Given the description of an element on the screen output the (x, y) to click on. 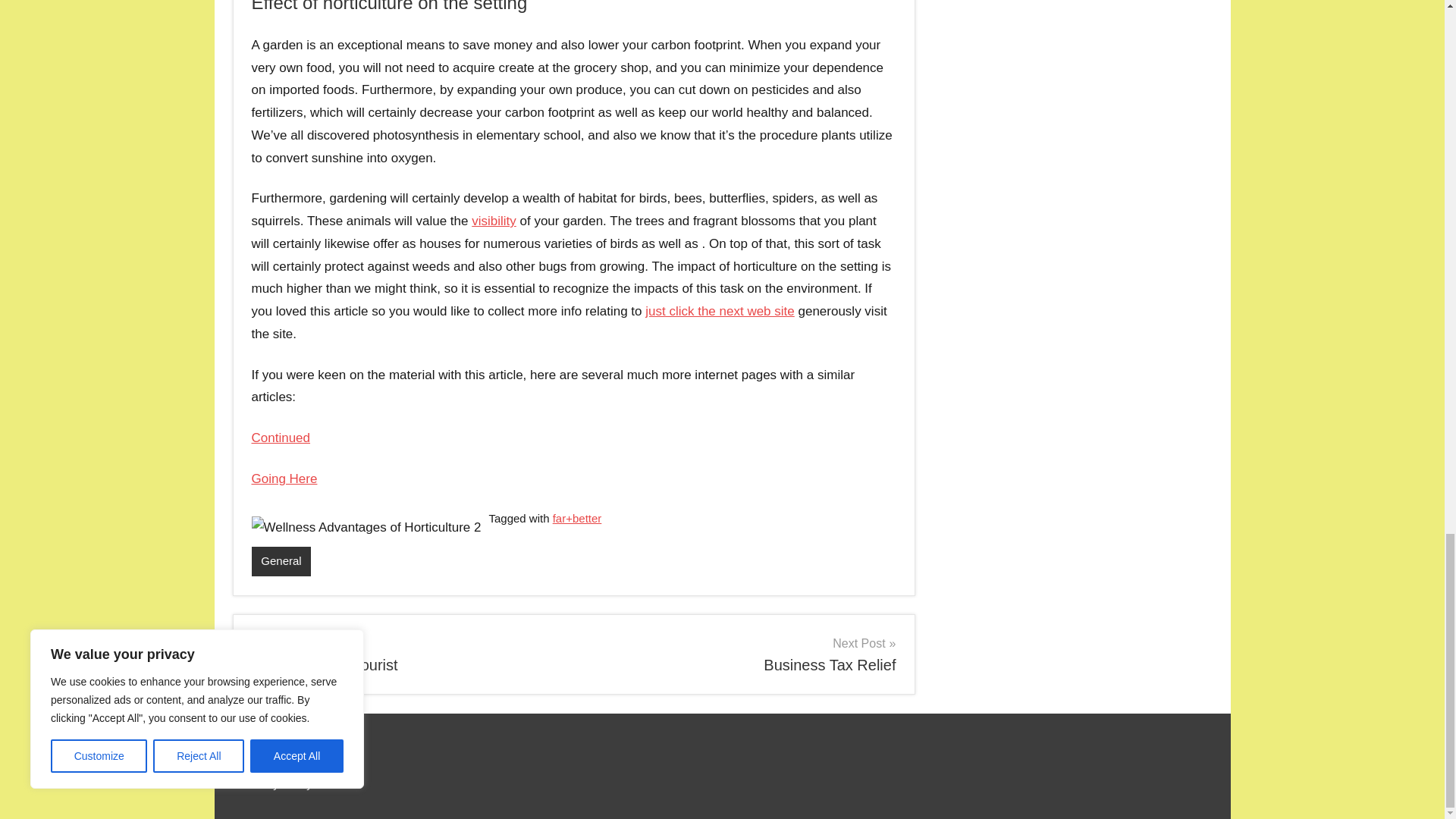
General (281, 561)
Going Here (284, 478)
Continued (406, 654)
visibility (281, 437)
just click the next web site (493, 220)
